Given the description of an element on the screen output the (x, y) to click on. 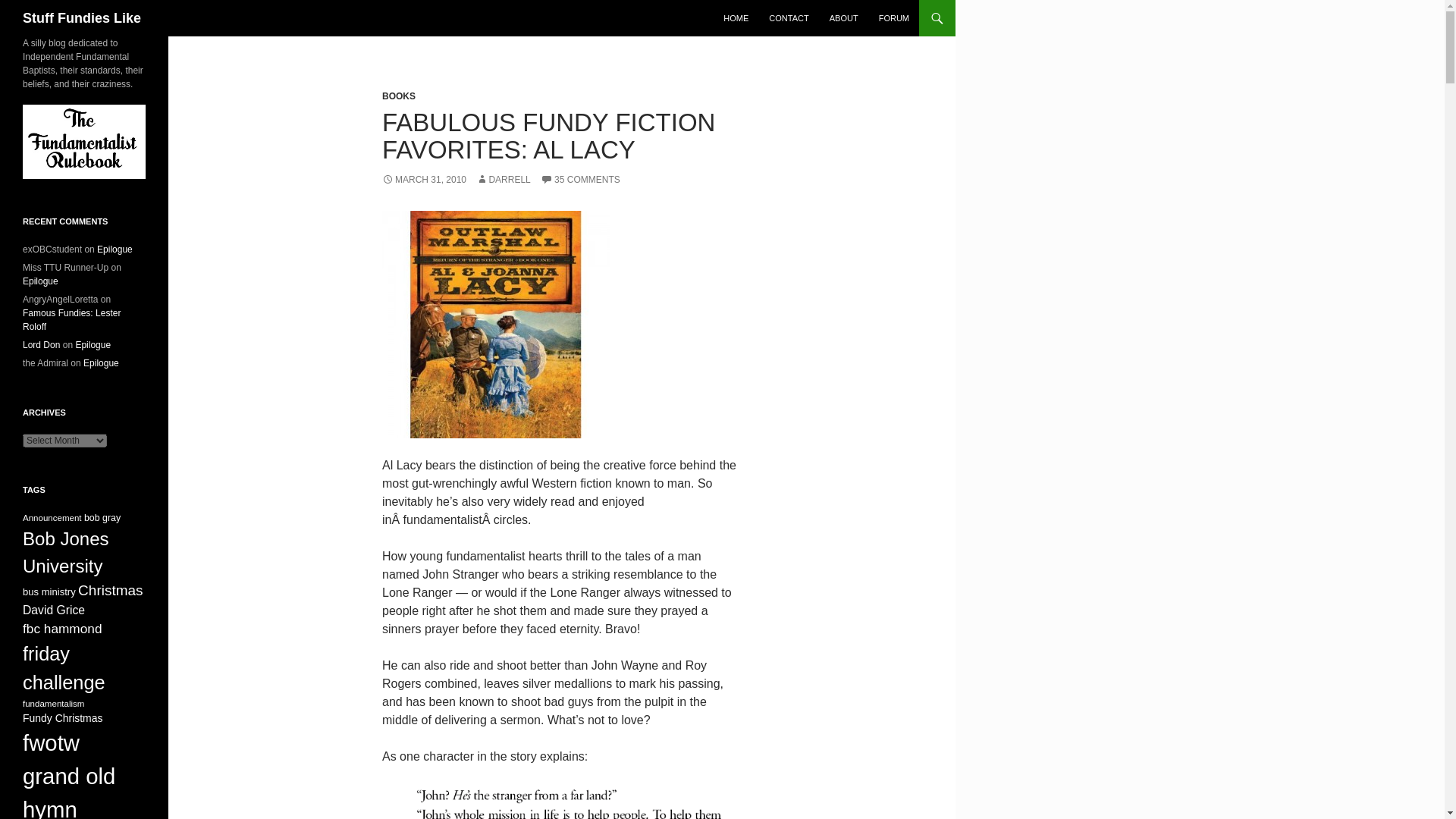
BOOKS (397, 95)
MARCH 31, 2010 (423, 179)
ABOUT (844, 18)
johnstranger2 (561, 801)
CONTACT (788, 18)
DARRELL (502, 179)
strangerbook (495, 324)
FORUM (893, 18)
Stuff Fundies Like (82, 18)
35 COMMENTS (580, 179)
HOME (735, 18)
